Given the description of an element on the screen output the (x, y) to click on. 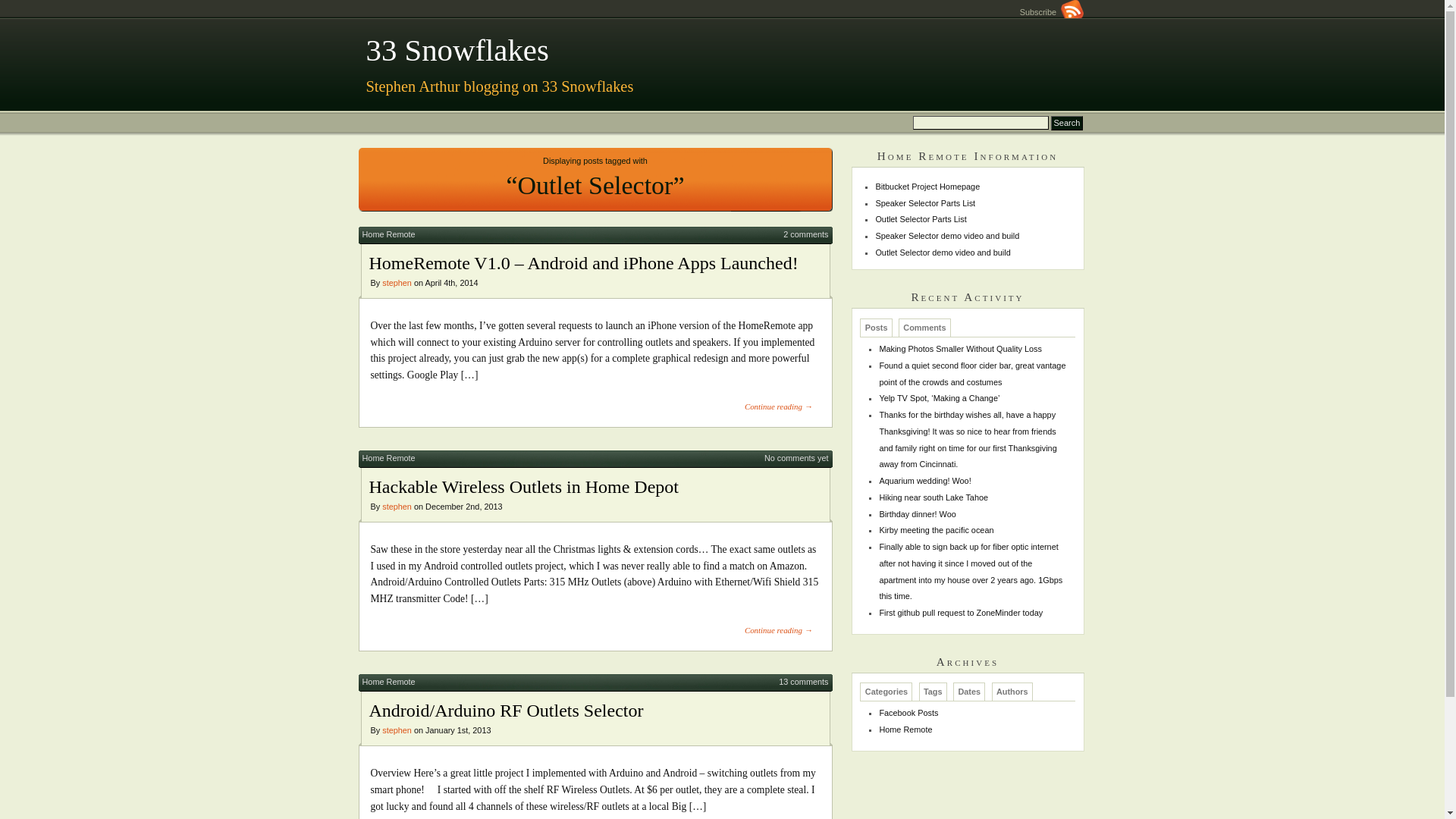
stephen Element type: text (396, 282)
stephen Element type: text (396, 729)
Home Remote Element type: text (904, 729)
Outlet Selector demo video and build Element type: text (942, 252)
Home Remote Element type: text (388, 681)
Home Remote Element type: text (388, 457)
Search Element type: text (1066, 122)
Hackable Wireless Outlets in Home Depot Element type: text (522, 486)
Speaker Selector demo video and build Element type: text (947, 235)
33 Snowflakes Element type: text (456, 50)
Outlet Selector Parts List Element type: text (920, 218)
Bitbucket Project Homepage Element type: text (927, 186)
Android/Arduino RF Outlets Selector Element type: text (505, 710)
Birthday dinner! Woo Element type: text (916, 513)
Dates Element type: text (969, 691)
2 comments Element type: text (805, 233)
Home Remote Element type: text (388, 233)
stephen Element type: text (396, 506)
Aquarium wedding! Woo! Element type: text (924, 480)
Categories Element type: text (885, 691)
Kirby meeting the pacific ocean Element type: text (935, 529)
Authors Element type: text (1012, 691)
Posts Element type: text (875, 327)
Hiking near south Lake Tahoe Element type: text (933, 497)
Facebook Posts Element type: text (908, 712)
First github pull request to ZoneMinder today Element type: text (960, 612)
No comments yet Element type: text (796, 457)
Speaker Selector Parts List Element type: text (925, 202)
Making Photos Smaller Without Quality Loss Element type: text (959, 348)
Tags Element type: text (932, 691)
Subscribe   Element type: text (1052, 11)
Comments Element type: text (924, 327)
13 comments Element type: text (803, 681)
